Given the description of an element on the screen output the (x, y) to click on. 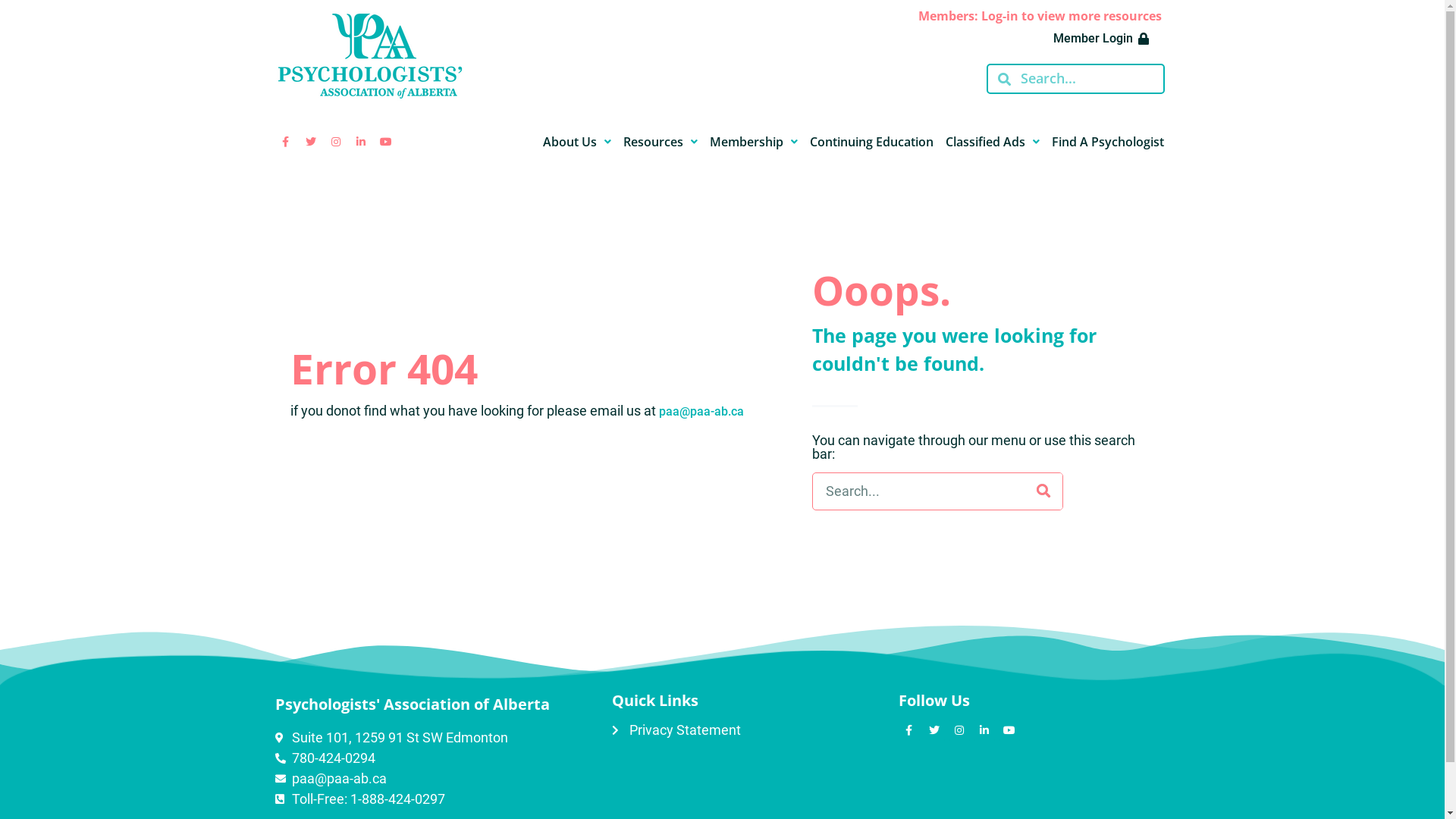
Continuing Education Element type: text (871, 141)
Classified Ads Element type: text (991, 141)
Resources Element type: text (660, 141)
paa@paa-ab.ca Element type: text (700, 411)
paa@paa-ab.ca Element type: text (435, 778)
780-424-0294 Element type: text (435, 757)
Privacy Statement Element type: text (746, 729)
Find A Psychologist Element type: text (1106, 141)
About Us Element type: text (576, 141)
Membership Element type: text (753, 141)
Member Login Element type: text (1100, 38)
Suite 101, 1259 91 St SW Edmonton Element type: text (435, 737)
